Given the description of an element on the screen output the (x, y) to click on. 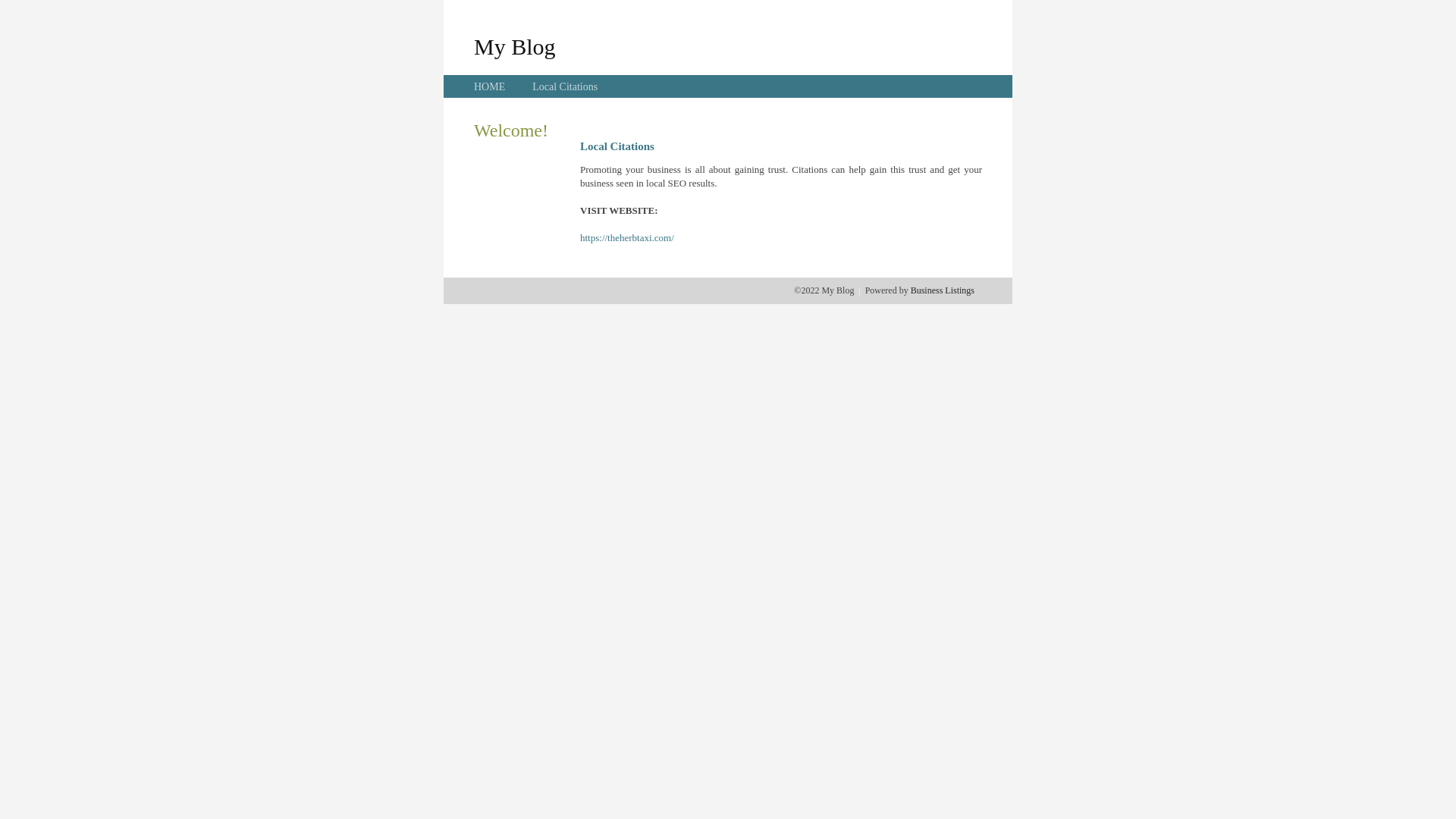
Local Citations Element type: text (564, 86)
My Blog Element type: text (514, 46)
https://theherbtaxi.com/ Element type: text (627, 237)
Business Listings Element type: text (942, 290)
HOME Element type: text (489, 86)
